Given the description of an element on the screen output the (x, y) to click on. 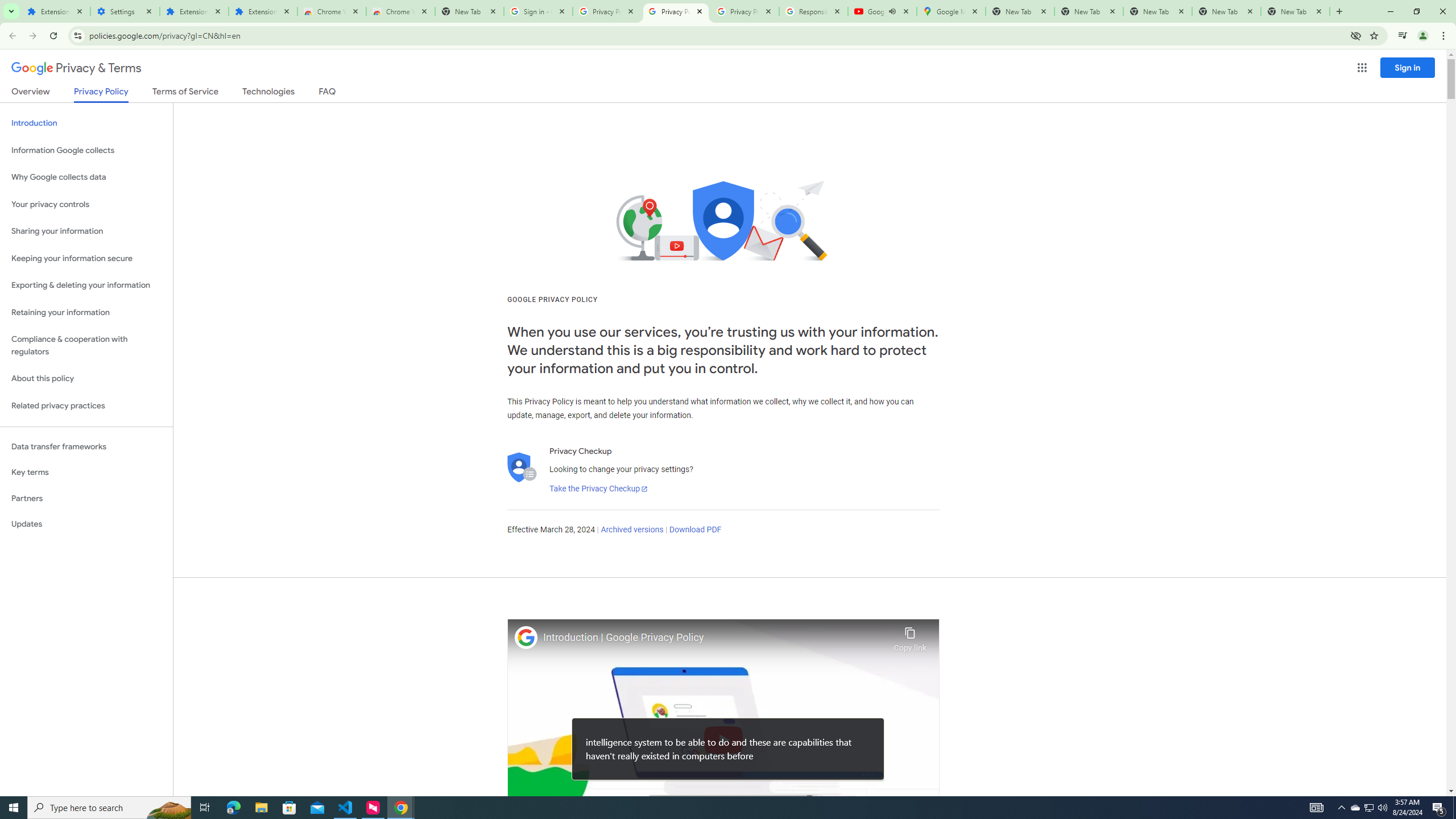
Updates (86, 524)
New Tab (469, 11)
Play (723, 739)
Copy link (909, 636)
Extensions (56, 11)
